Given the description of an element on the screen output the (x, y) to click on. 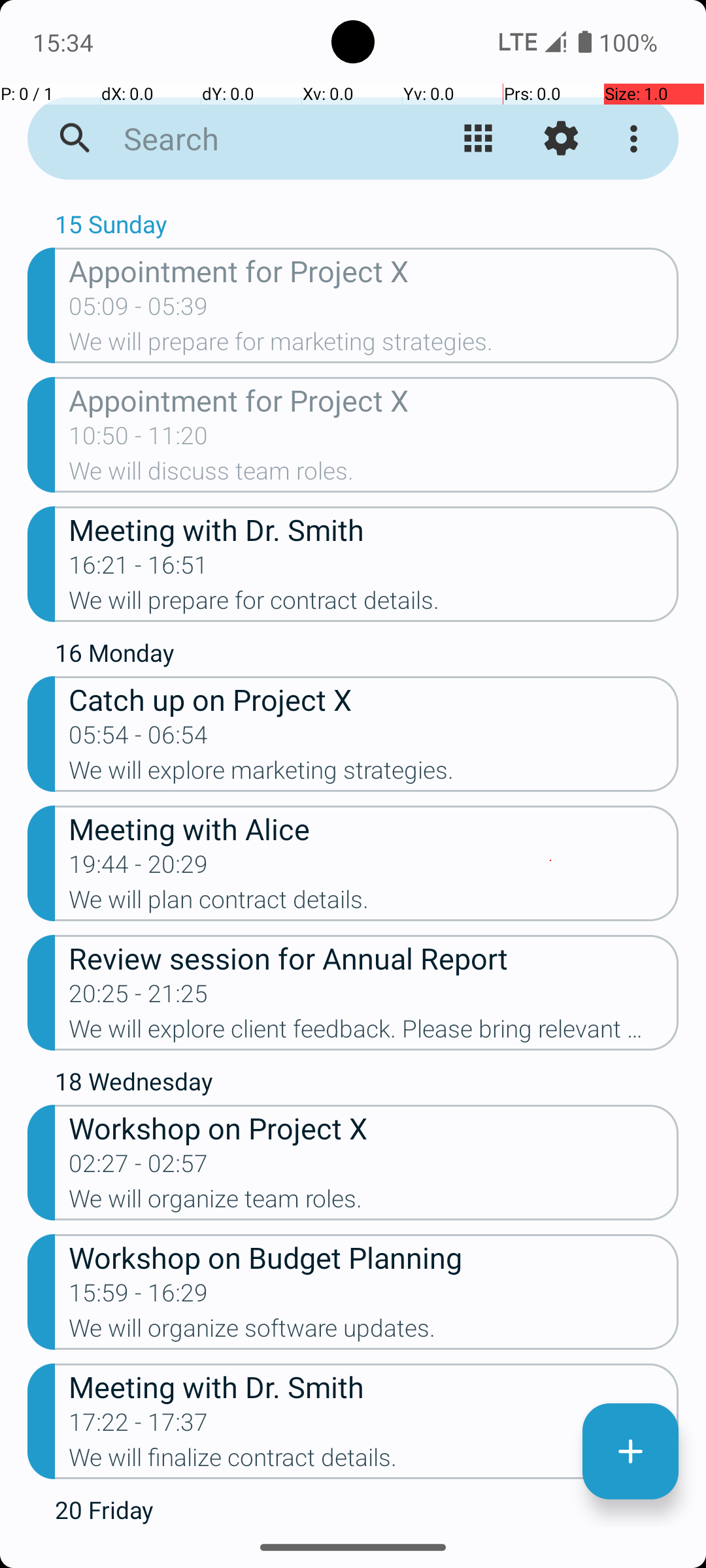
05:09 - 05:39 Element type: android.widget.TextView (137, 309)
We will prepare for marketing strategies. Element type: android.widget.TextView (373, 345)
10:50 - 11:20 Element type: android.widget.TextView (137, 439)
We will discuss team roles. Element type: android.widget.TextView (373, 474)
16:21 - 16:51 Element type: android.widget.TextView (137, 568)
We will prepare for contract details. Element type: android.widget.TextView (373, 603)
05:54 - 06:54 Element type: android.widget.TextView (137, 738)
We will explore marketing strategies. Element type: android.widget.TextView (373, 773)
Meeting with Alice Element type: android.widget.TextView (373, 827)
19:44 - 20:29 Element type: android.widget.TextView (137, 867)
We will plan contract details. Element type: android.widget.TextView (373, 903)
20:25 - 21:25 Element type: android.widget.TextView (137, 997)
We will explore client feedback. Please bring relevant documents. Element type: android.widget.TextView (373, 1032)
02:27 - 02:57 Element type: android.widget.TextView (137, 1167)
We will organize team roles. Element type: android.widget.TextView (373, 1202)
15:59 - 16:29 Element type: android.widget.TextView (137, 1296)
We will organize software updates. Element type: android.widget.TextView (373, 1331)
17:22 - 17:37 Element type: android.widget.TextView (137, 1425)
We will finalize contract details. Element type: android.widget.TextView (373, 1461)
